Given the description of an element on the screen output the (x, y) to click on. 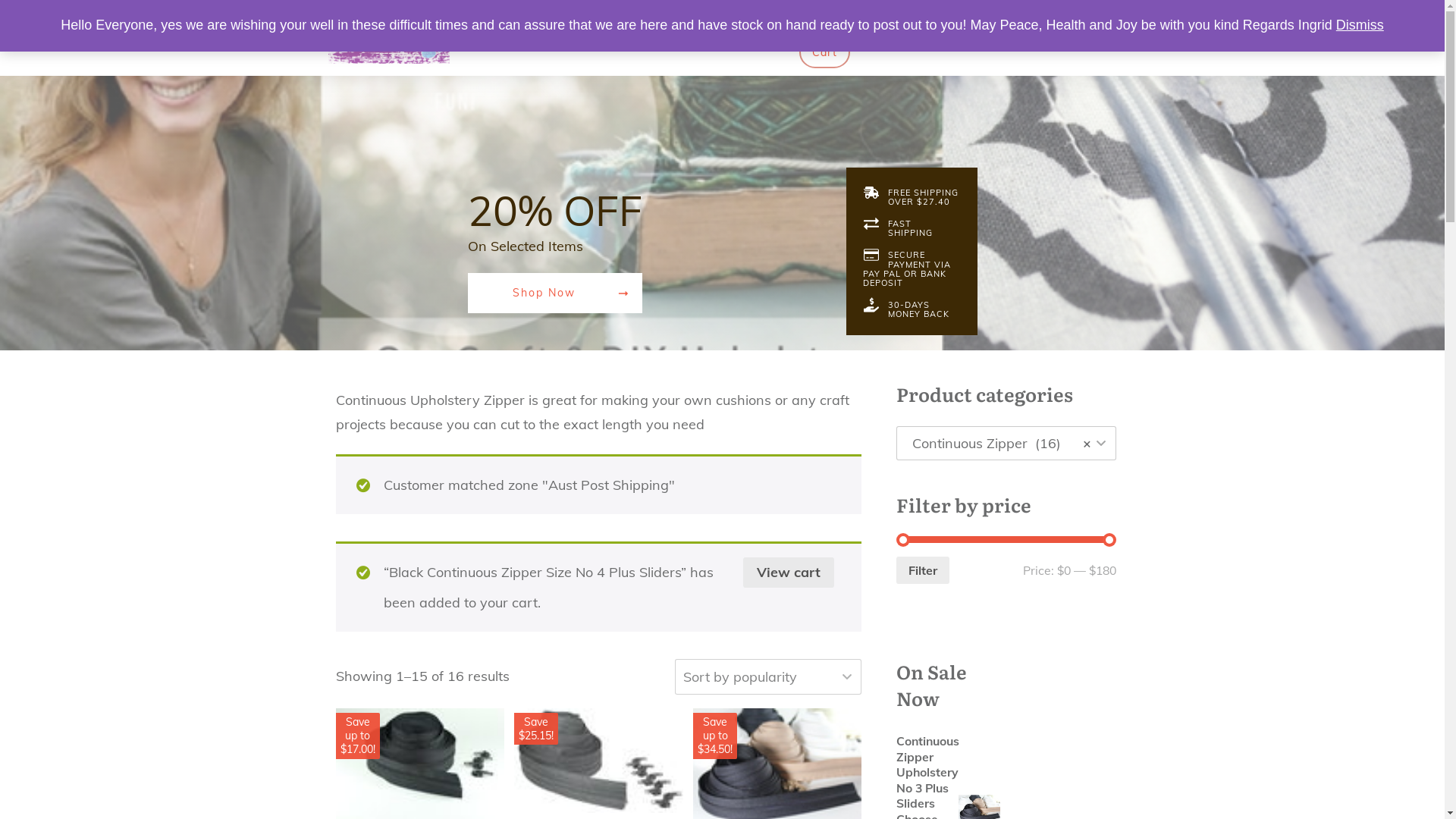
Dismiss Element type: text (1359, 24)
Shop Now Element type: text (554, 293)
Helpful Articles Element type: text (846, 21)
Community Gallery Element type: text (1021, 21)
Cart Element type: text (824, 51)
View cart Element type: text (788, 572)
Filter Element type: text (922, 569)
Contact Us Element type: text (750, 21)
Shop Element type: text (679, 21)
About Element type: text (929, 21)
My Account Element type: text (598, 21)
